Given the description of an element on the screen output the (x, y) to click on. 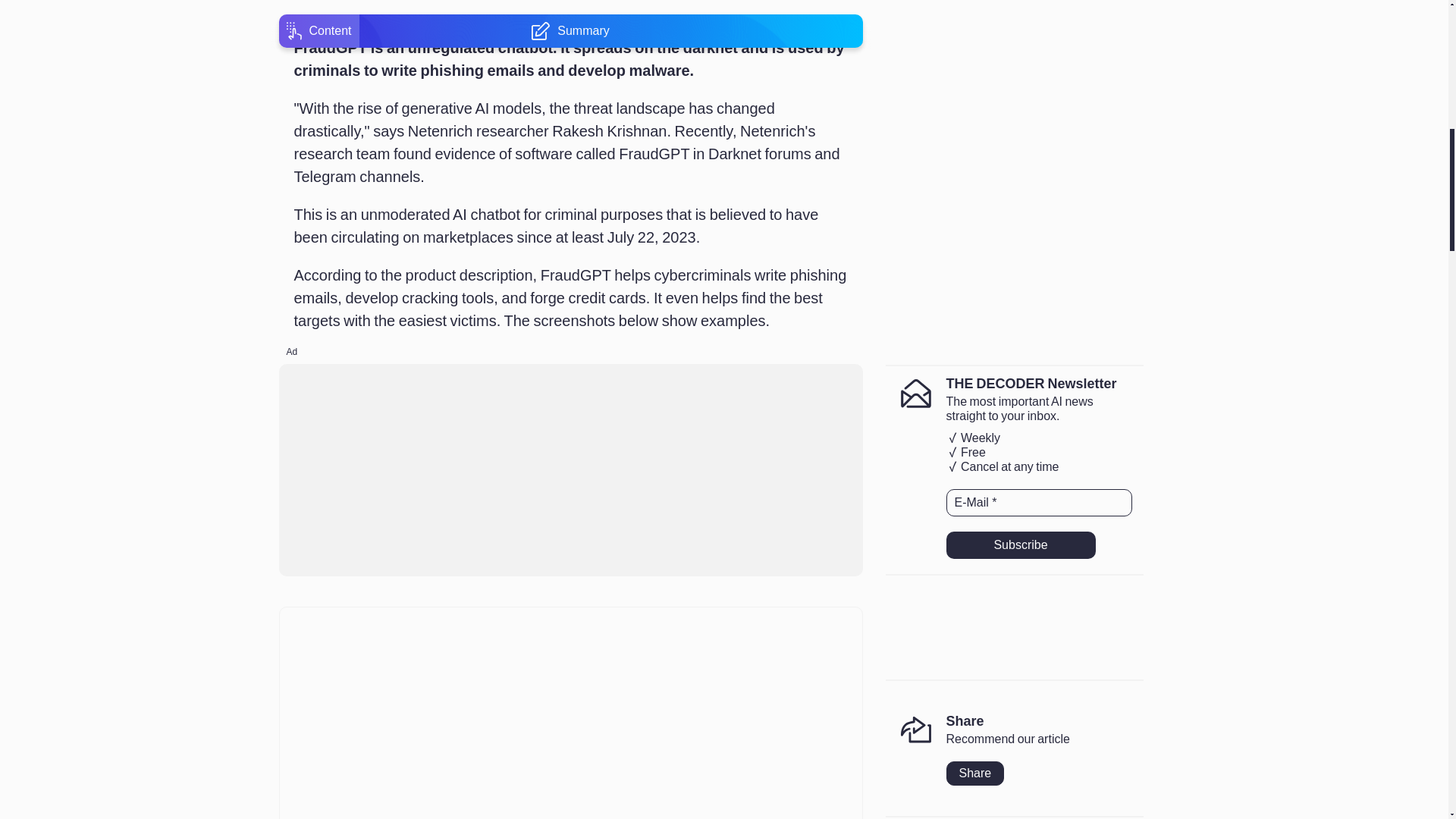
Subscribe (1021, 544)
Summary (569, 2)
Subscribe (1021, 544)
Share (975, 773)
E-Mail (1039, 502)
